Given the description of an element on the screen output the (x, y) to click on. 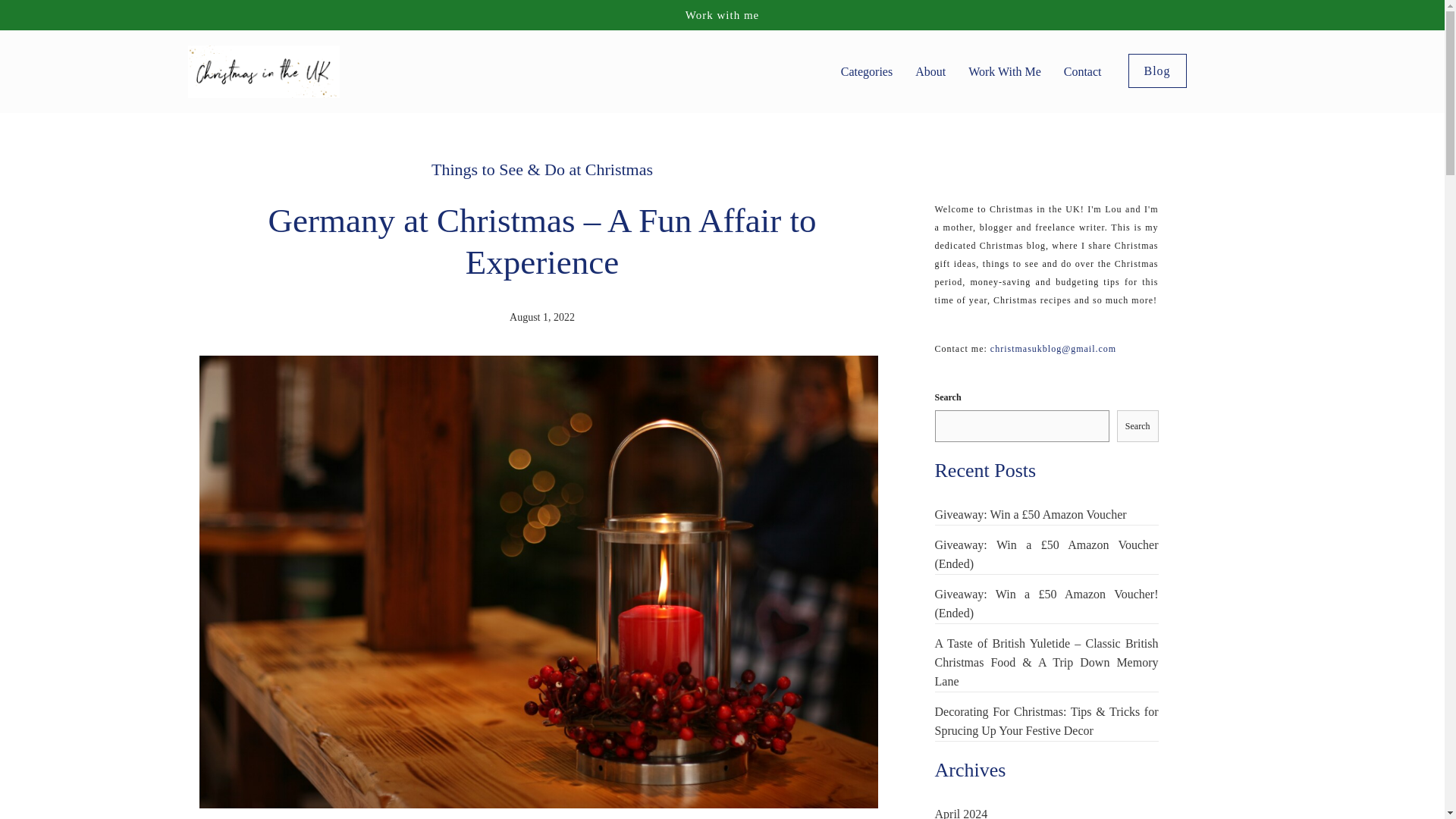
Work with me (721, 15)
Search (1137, 426)
Blog (1157, 70)
Categories (866, 72)
Work With Me (1004, 72)
Contact (1082, 72)
